Given the description of an element on the screen output the (x, y) to click on. 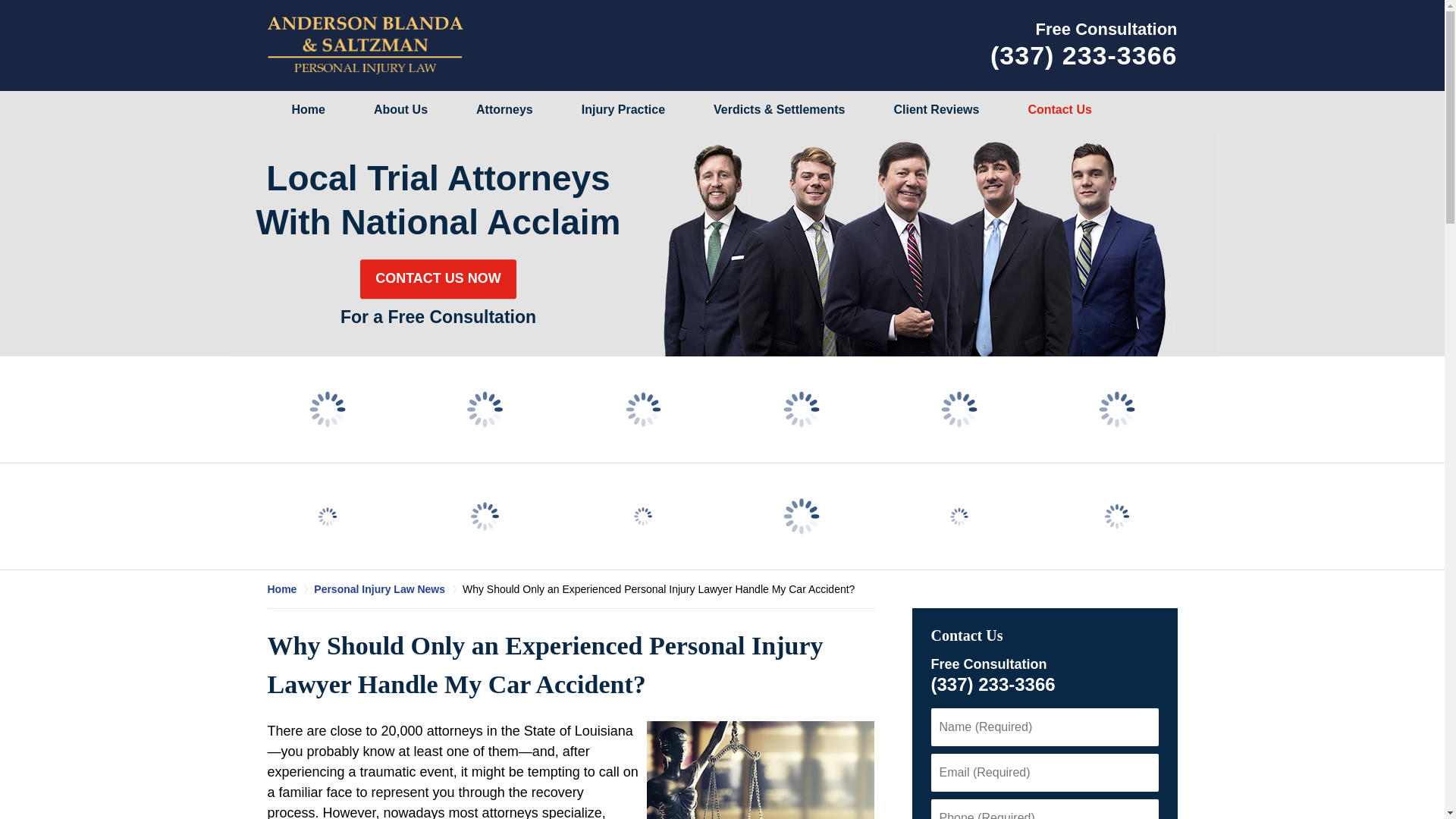
Home (307, 109)
Client Reviews (936, 109)
Home (290, 588)
Contact Us (1059, 109)
About Us (400, 109)
Back to Home (364, 45)
Attorneys (504, 109)
Personal Injury Law News (388, 588)
Injury Practice (622, 109)
Contact Us (967, 635)
